Given the description of an element on the screen output the (x, y) to click on. 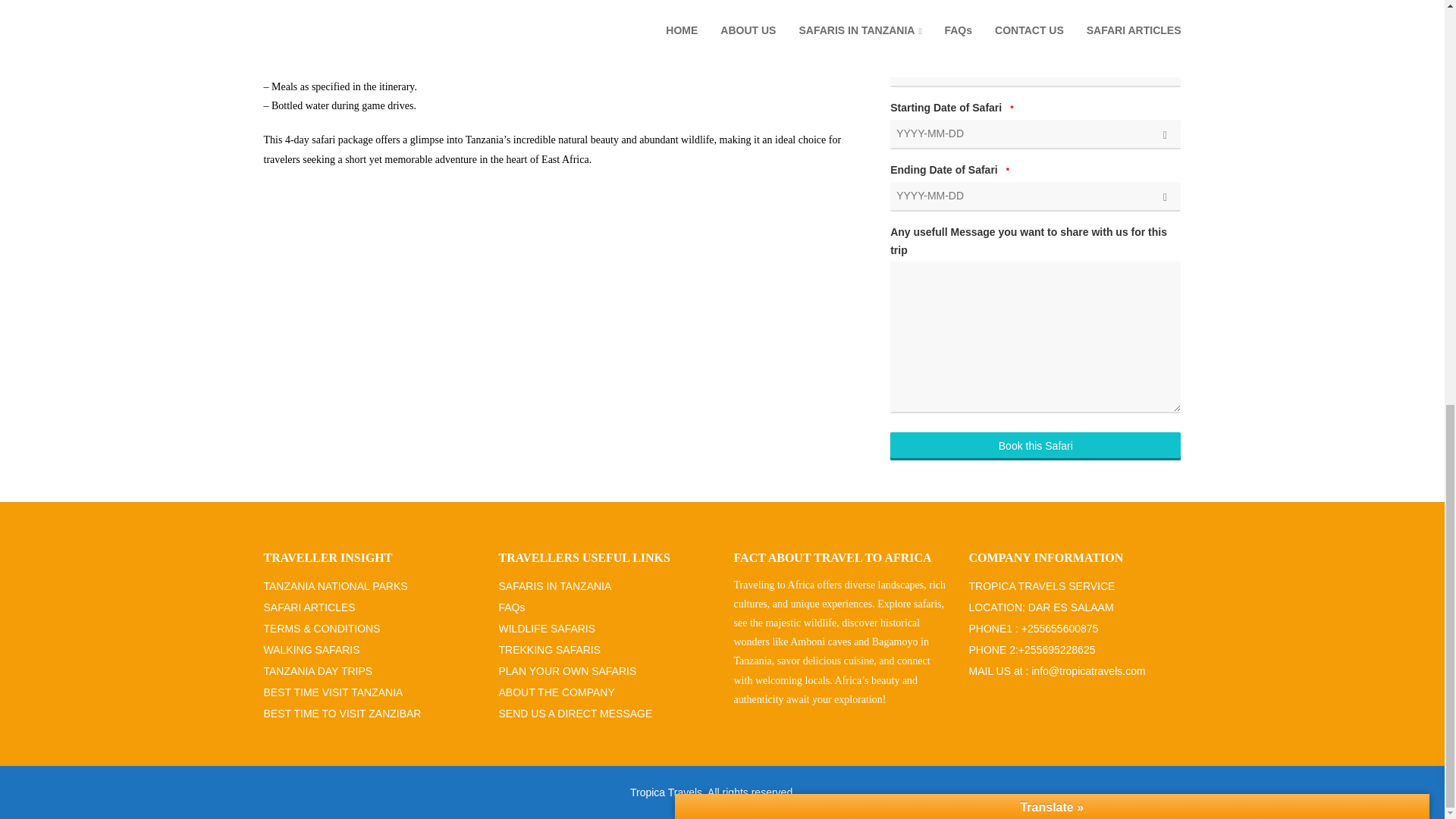
FAQs (512, 609)
TANZANIA DAY TRIPS (317, 673)
ABOUT THE COMPANY (556, 694)
Luxury Safari (894, 16)
WALKING SAFARIS (311, 651)
BEST TIME VISIT TANZANIA (333, 694)
BEST TIME TO VISIT ZANZIBAR (342, 715)
WILDLIFE SAFARIS (547, 630)
Book this Safari (1034, 446)
TREKKING SAFARIS (550, 651)
